Given the description of an element on the screen output the (x, y) to click on. 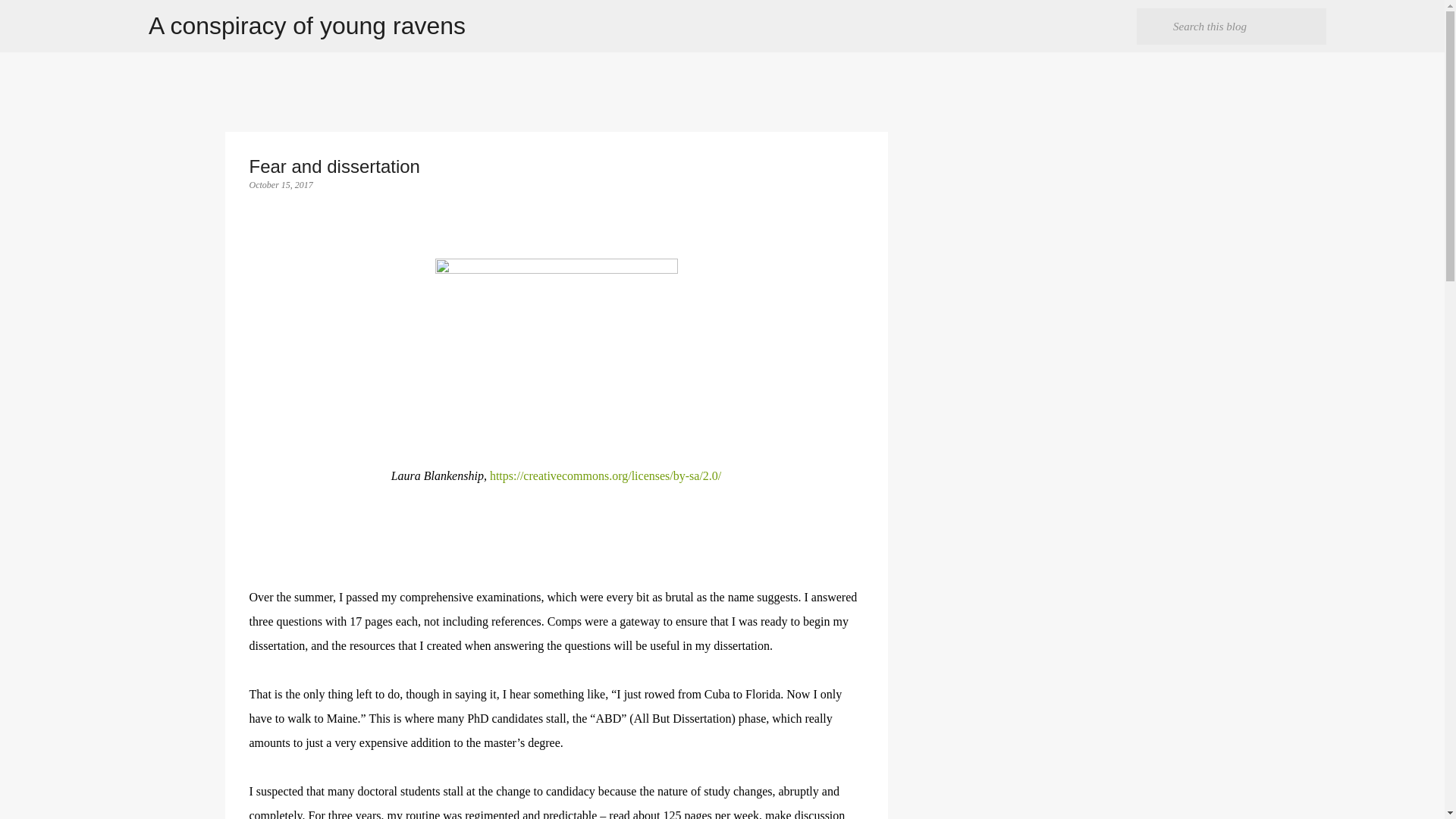
A conspiracy of young ravens (306, 25)
October 15, 2017 (280, 184)
permanent link (280, 184)
